Given the description of an element on the screen output the (x, y) to click on. 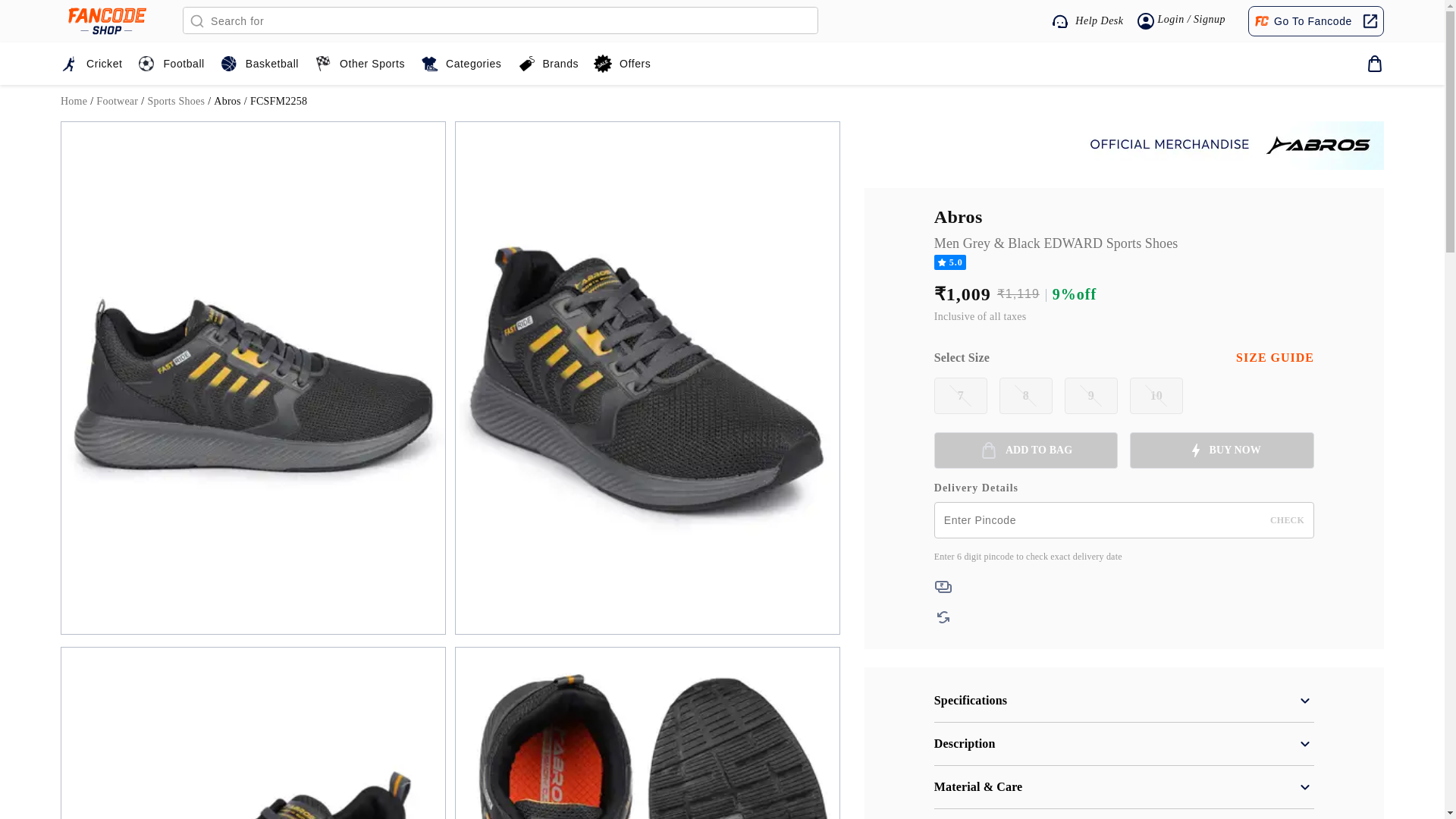
Go To Fancode (1314, 20)
Specifications (1124, 700)
Description (1124, 743)
Help Desk (1086, 21)
